Given the description of an element on the screen output the (x, y) to click on. 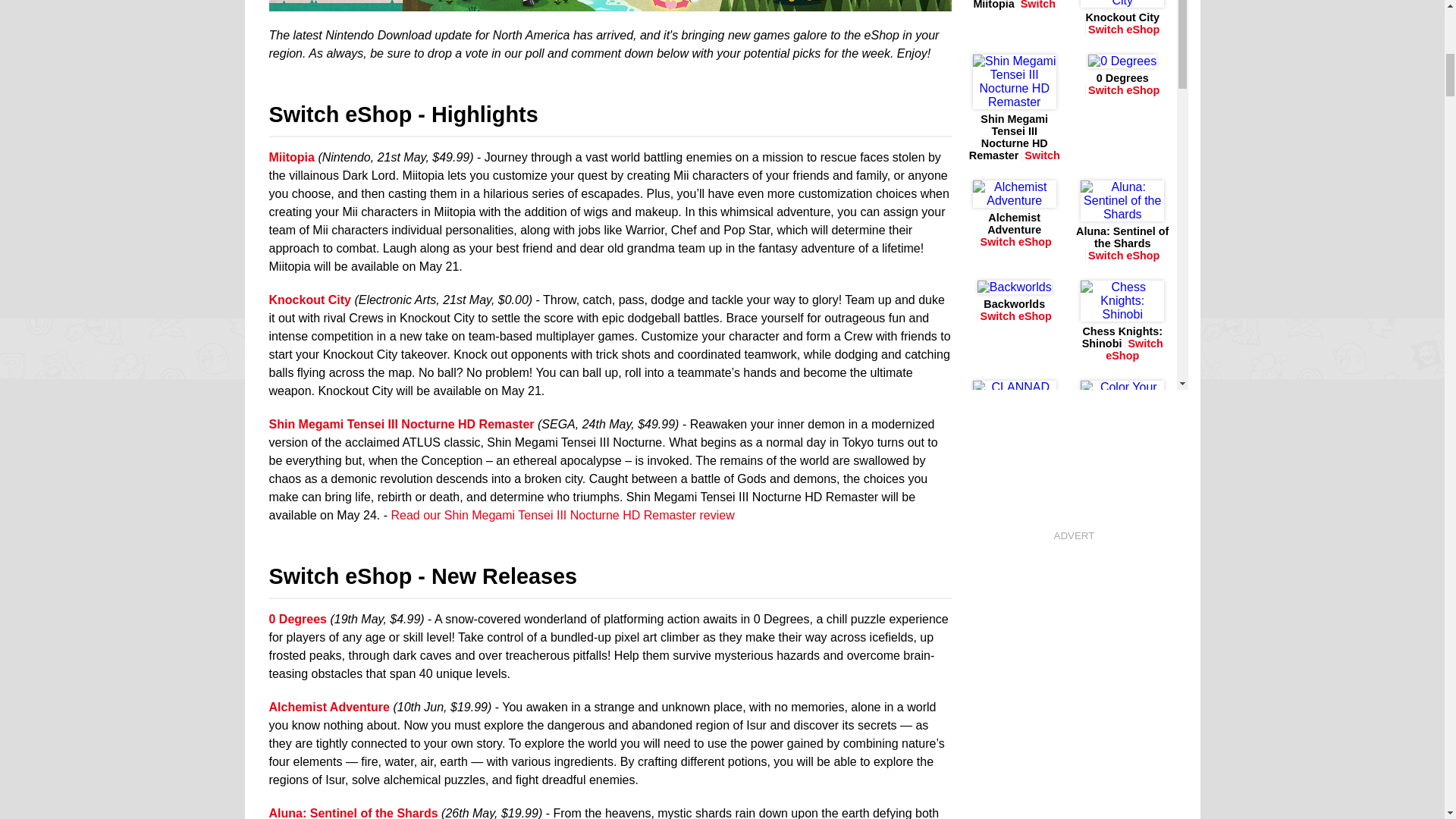
Miitopia (608, 4)
